Given the description of an element on the screen output the (x, y) to click on. 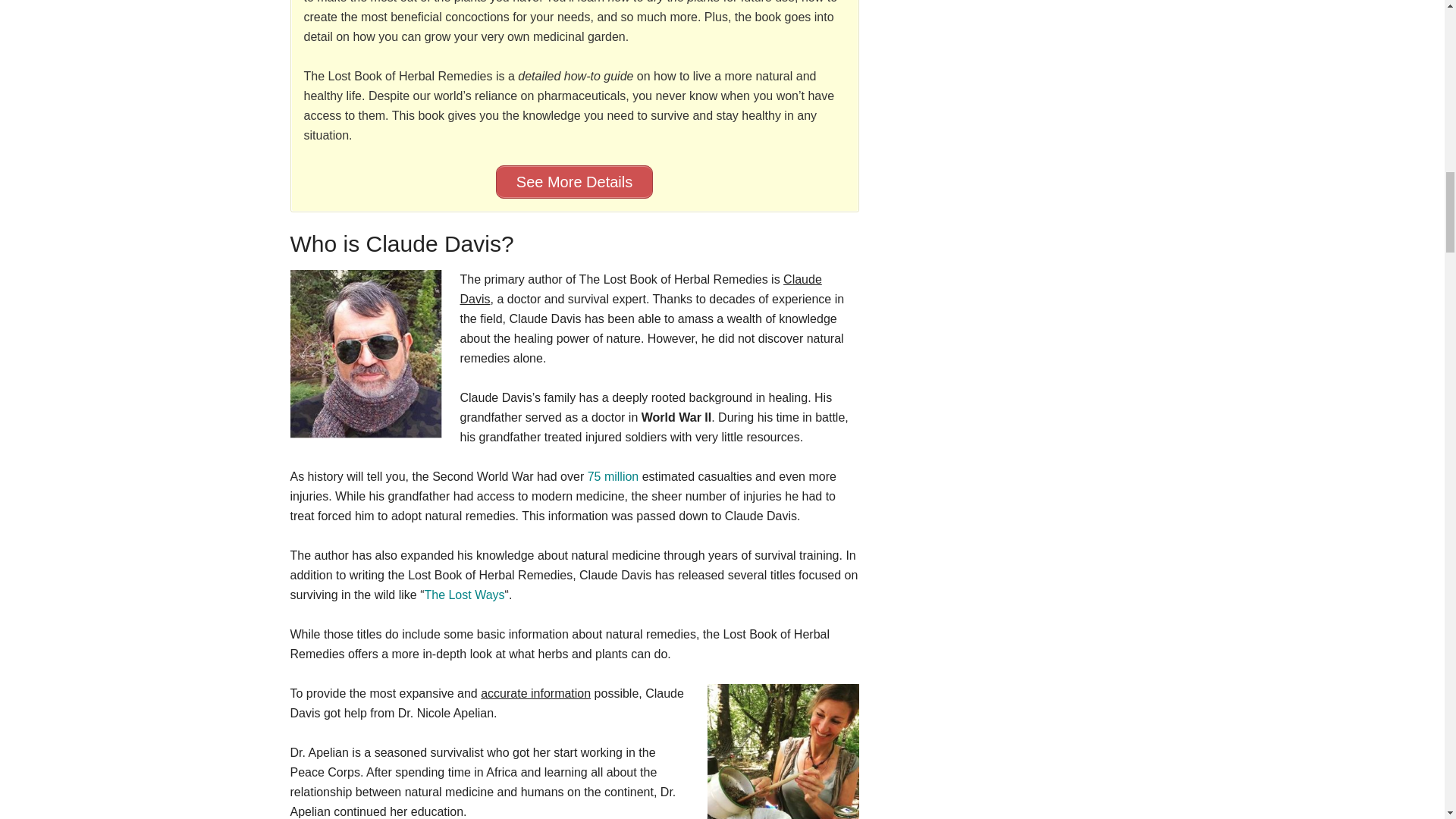
See More Details (574, 182)
The Lost Ways (463, 594)
75 million (613, 476)
